Given the description of an element on the screen output the (x, y) to click on. 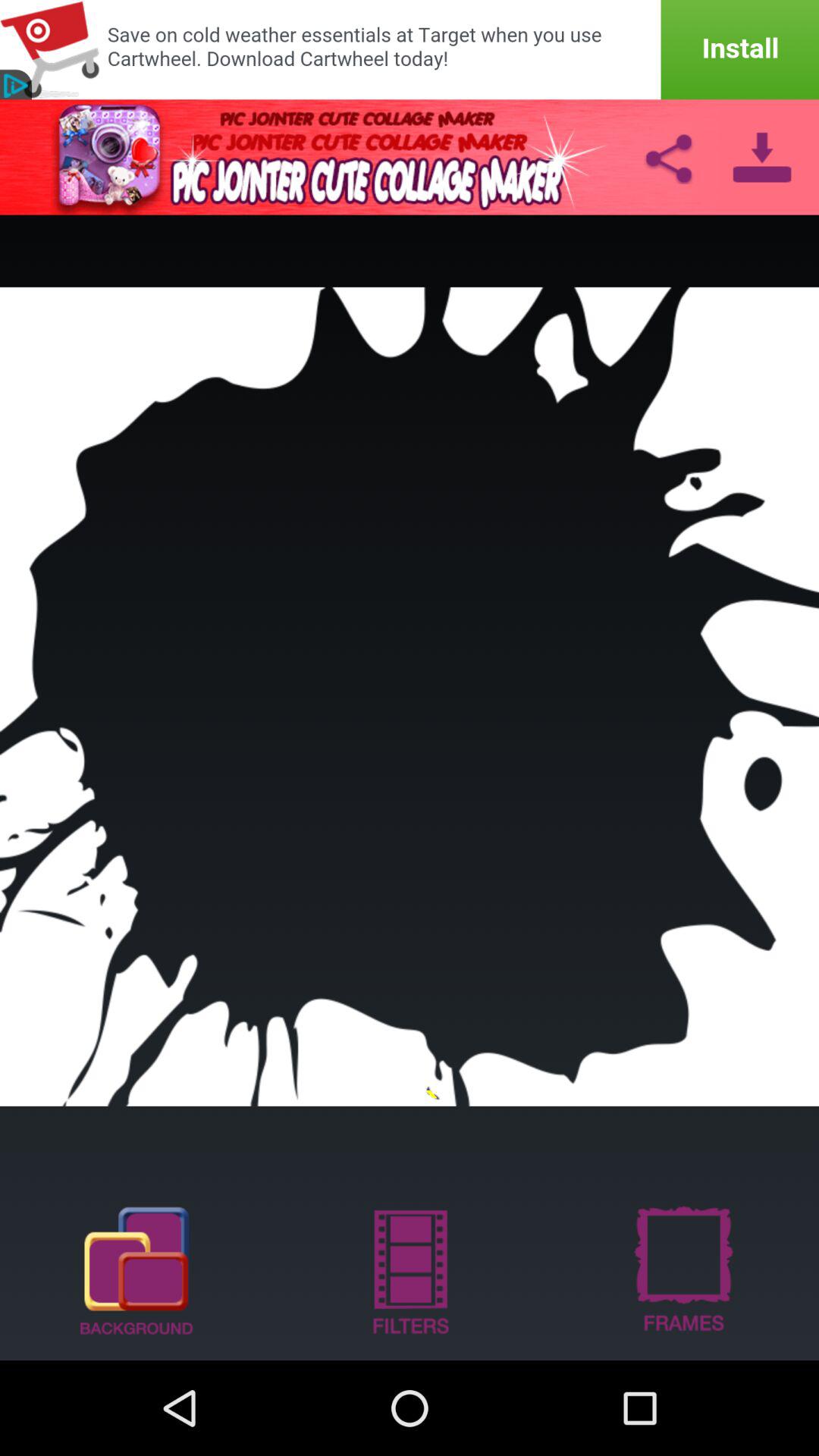
share this content (668, 156)
